Given the description of an element on the screen output the (x, y) to click on. 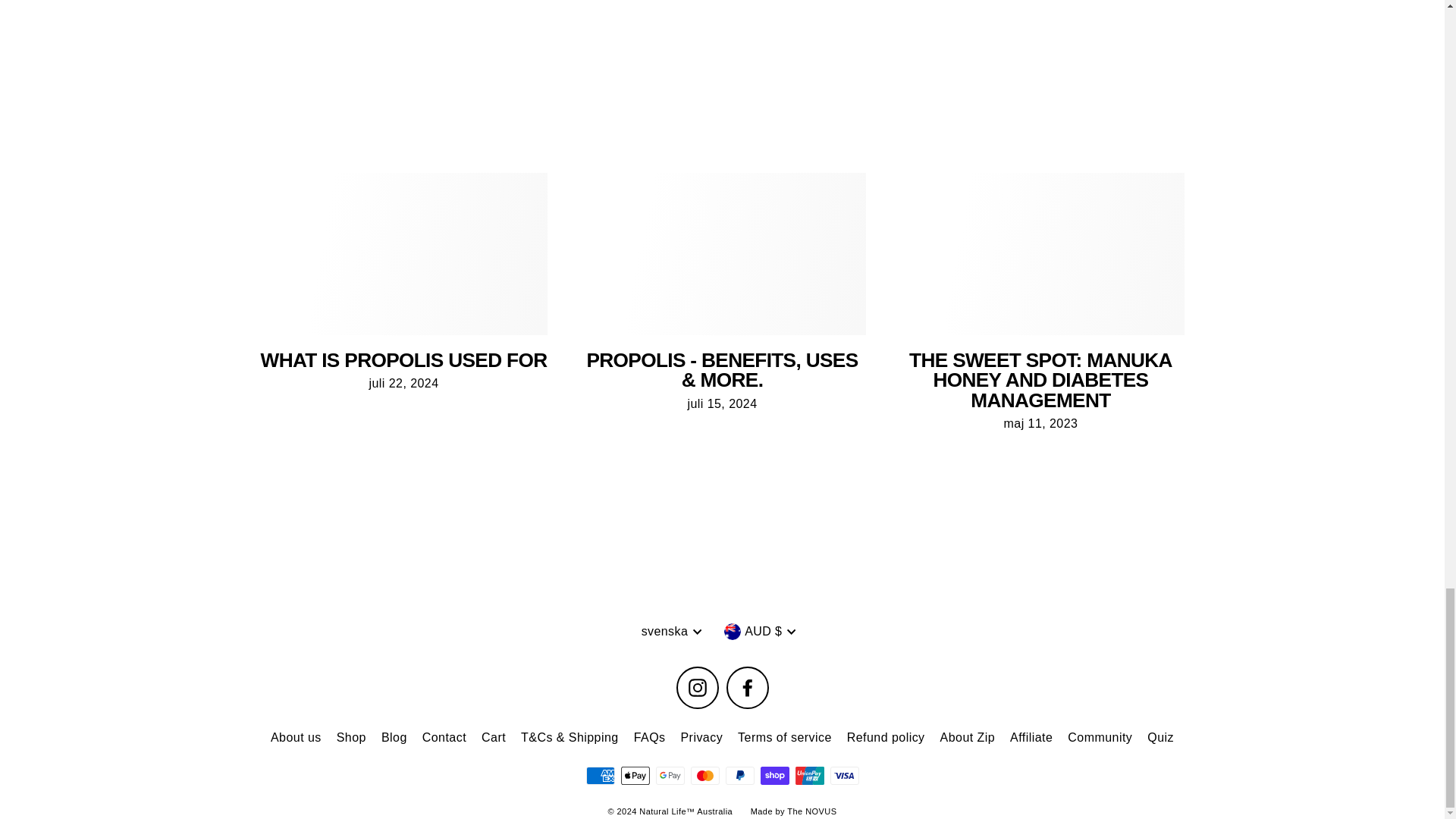
PayPal (739, 775)
Union Pay (809, 775)
Visa (844, 775)
American Express (599, 775)
Shop Pay (774, 775)
Apple Pay (634, 775)
Google Pay (669, 775)
Mastercard (704, 775)
